Given the description of an element on the screen output the (x, y) to click on. 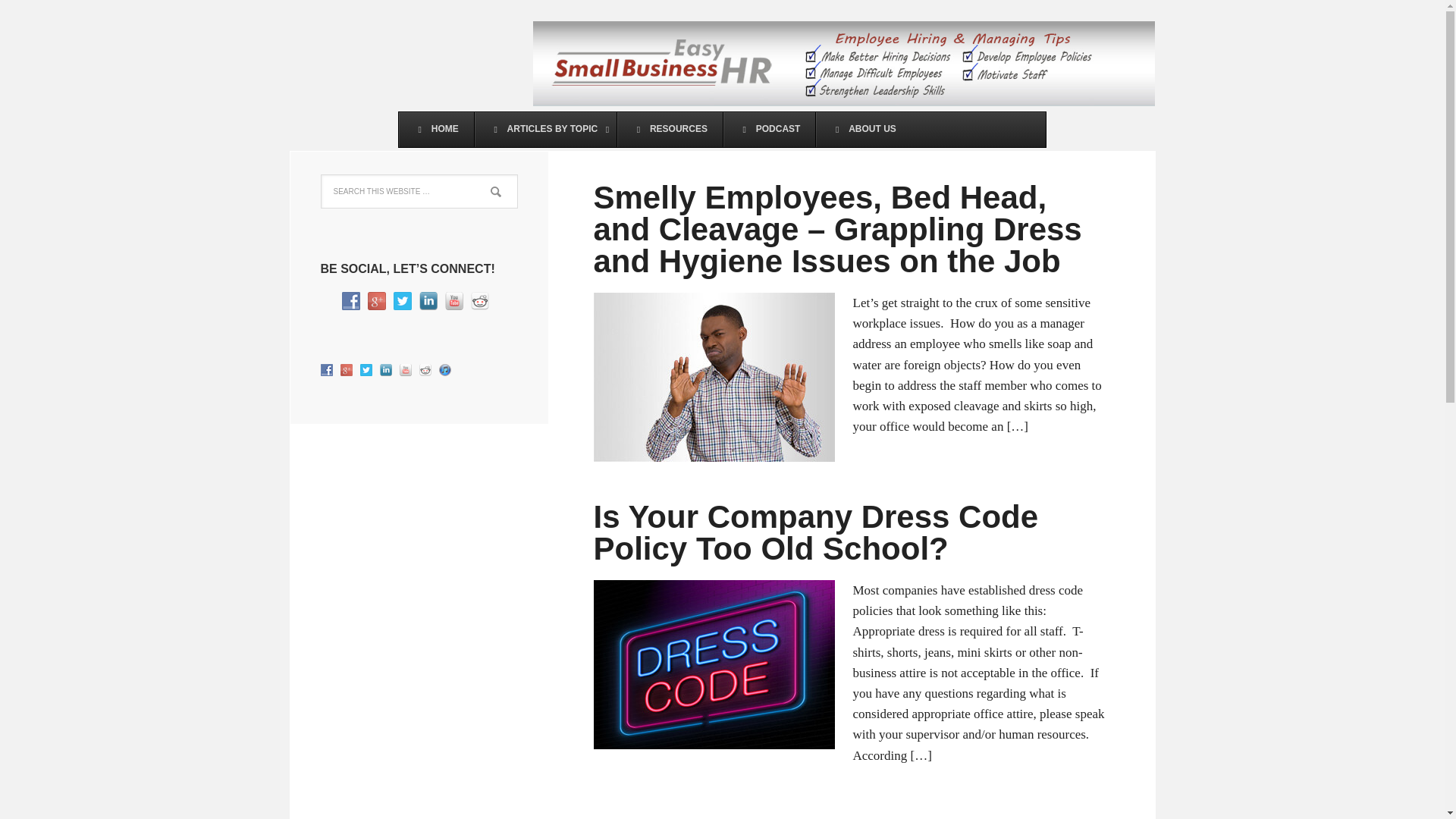
Follow Us on YouTube (404, 369)
HOME (436, 129)
Follow Us on LinkedIn (384, 369)
Follow Us on Facebook (349, 300)
Follow Us on YouTube (453, 300)
Follow Us on Reddit (478, 300)
PODCAST (768, 129)
Follow Us on Reddit (424, 369)
Follow Us on Twitter (365, 369)
Follow Us on Facebook (325, 369)
Follow Us on LinkedIn (427, 300)
Follow Us on iTunes (443, 369)
ABOUT US (863, 129)
RESOURCES (668, 129)
